Given the description of an element on the screen output the (x, y) to click on. 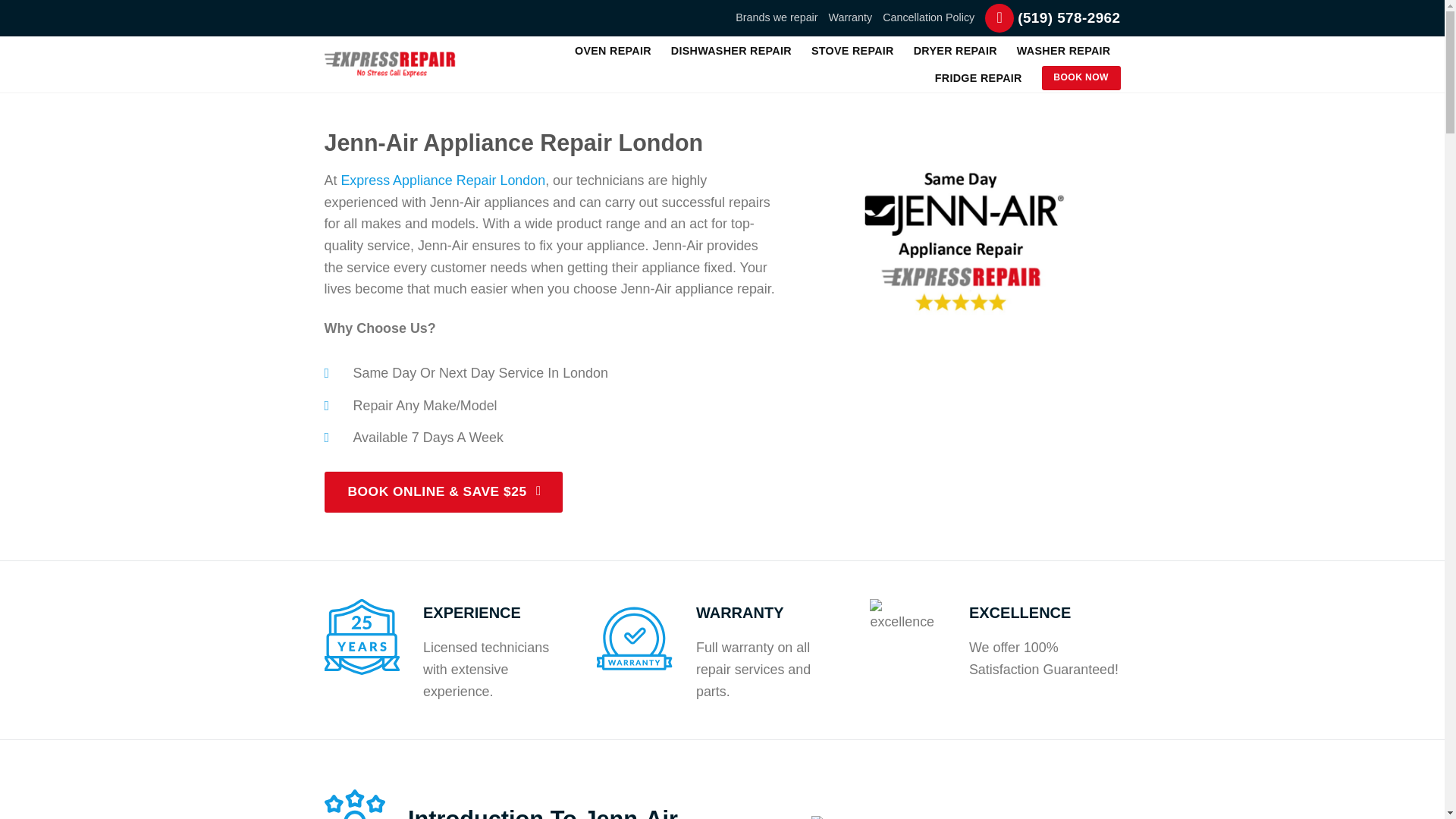
DISHWASHER REPAIR (731, 50)
Brands we repair (775, 17)
Cancellation Policy (928, 17)
OVEN REPAIR (612, 50)
DRYER REPAIR (955, 50)
WASHER REPAIR (1063, 50)
STOVE REPAIR (851, 50)
FRIDGE REPAIR (978, 77)
BOOK NOW (1081, 77)
Warranty (850, 17)
Express Appliance Repair London (442, 180)
